Given the description of an element on the screen output the (x, y) to click on. 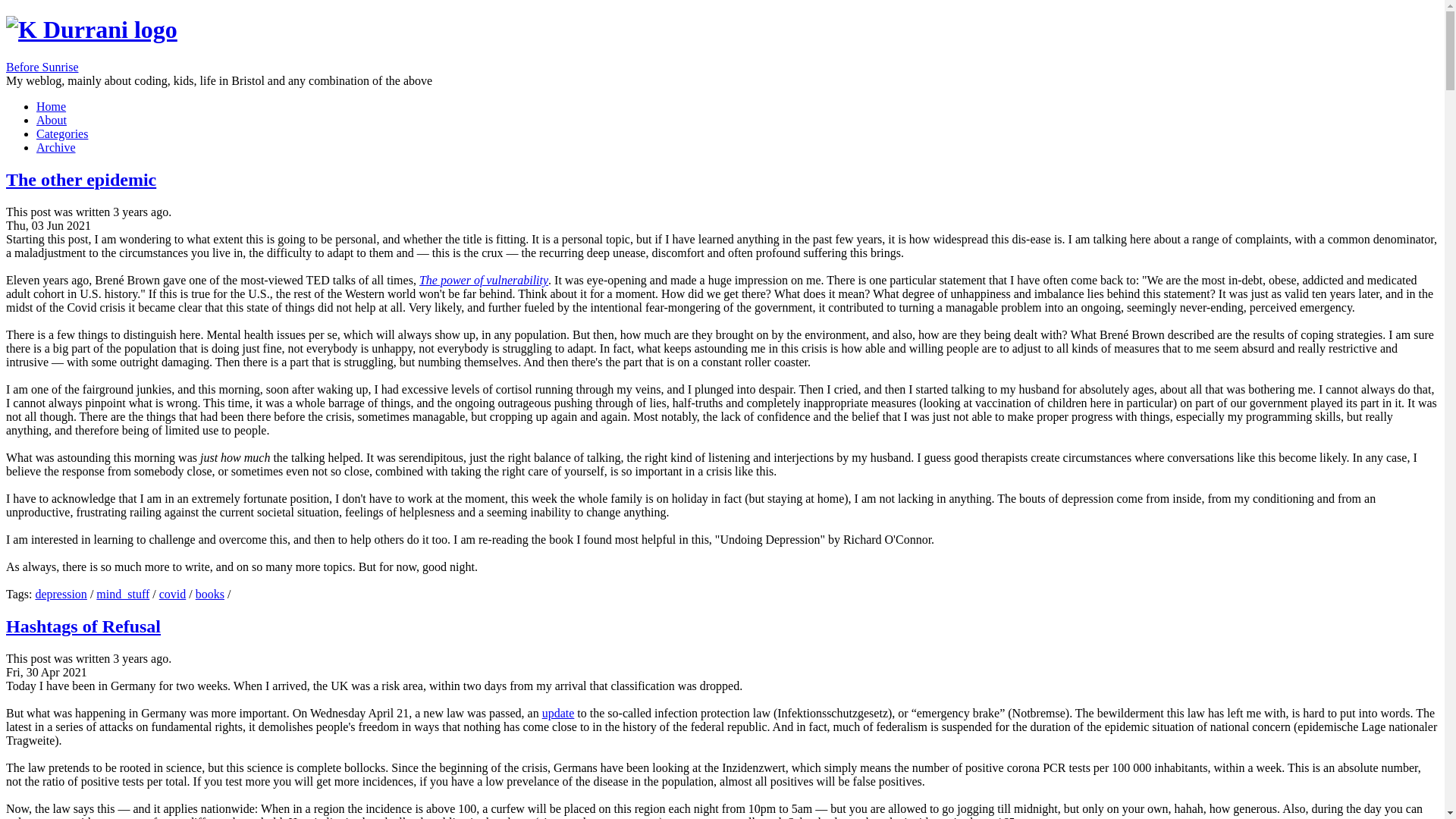
The power of vulnerability (483, 279)
Archive (55, 146)
books (209, 594)
depression (59, 594)
Categories (61, 133)
covid (172, 594)
Home (50, 106)
About (51, 119)
update (558, 712)
Before Sunrise (41, 66)
